Given the description of an element on the screen output the (x, y) to click on. 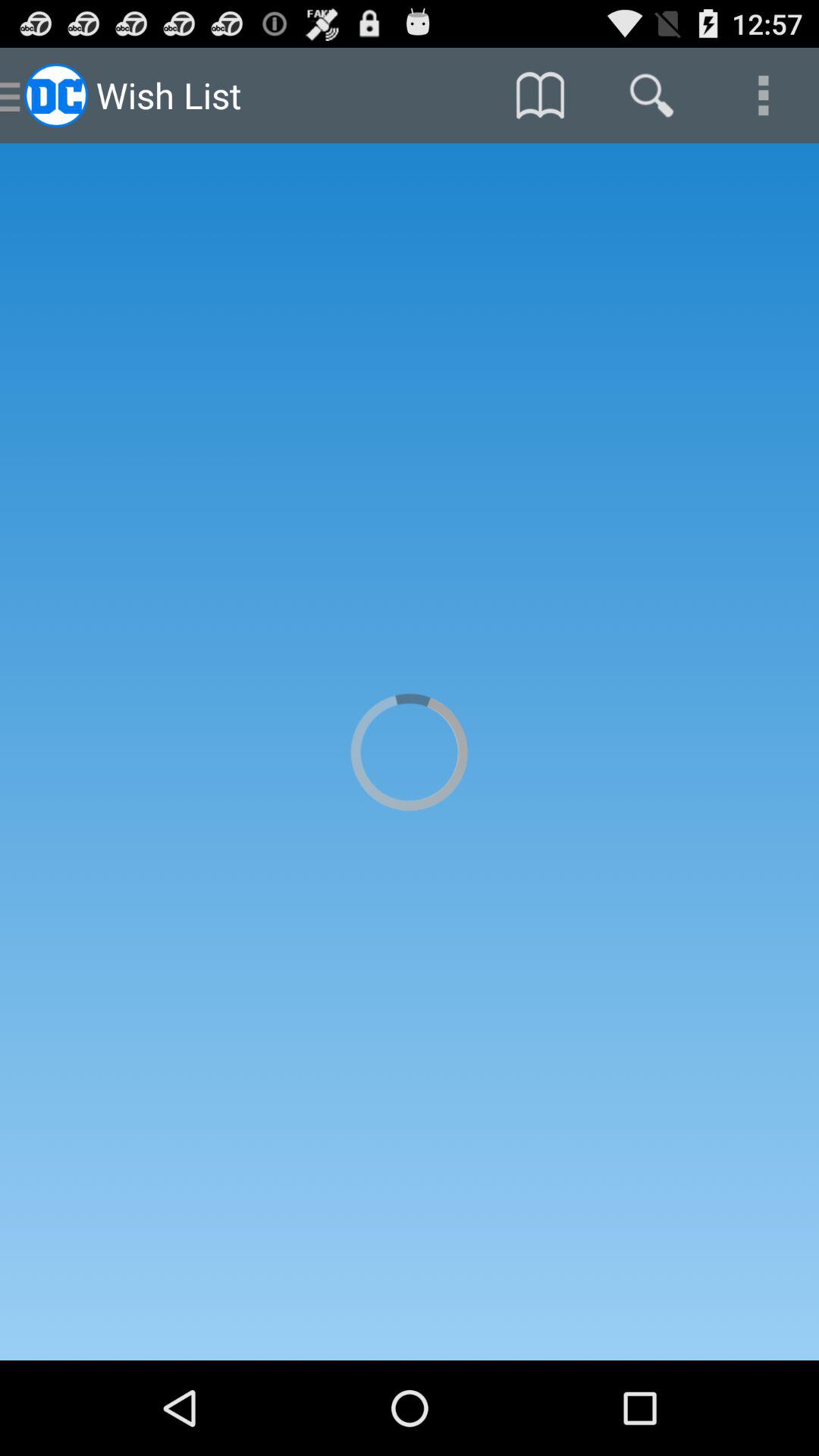
click the app to the right of the wish list item (540, 95)
